Given the description of an element on the screen output the (x, y) to click on. 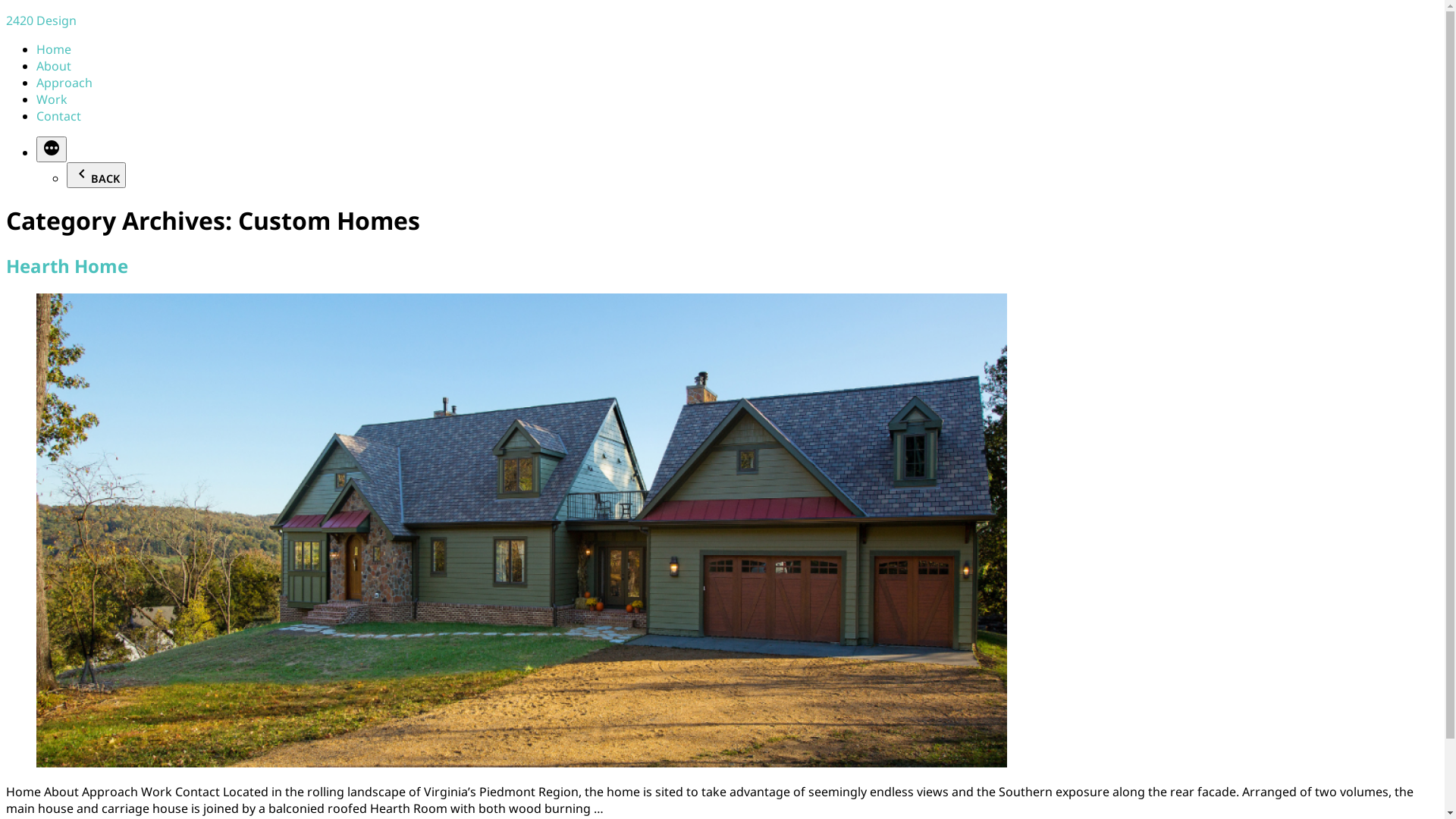
Home Element type: text (53, 48)
Contact Element type: text (58, 115)
Approach Element type: text (64, 82)
Hearth Home Element type: text (67, 265)
BACK Element type: text (95, 175)
2420 Design Element type: text (41, 20)
Work Element type: text (51, 99)
About Element type: text (53, 65)
